Given the description of an element on the screen output the (x, y) to click on. 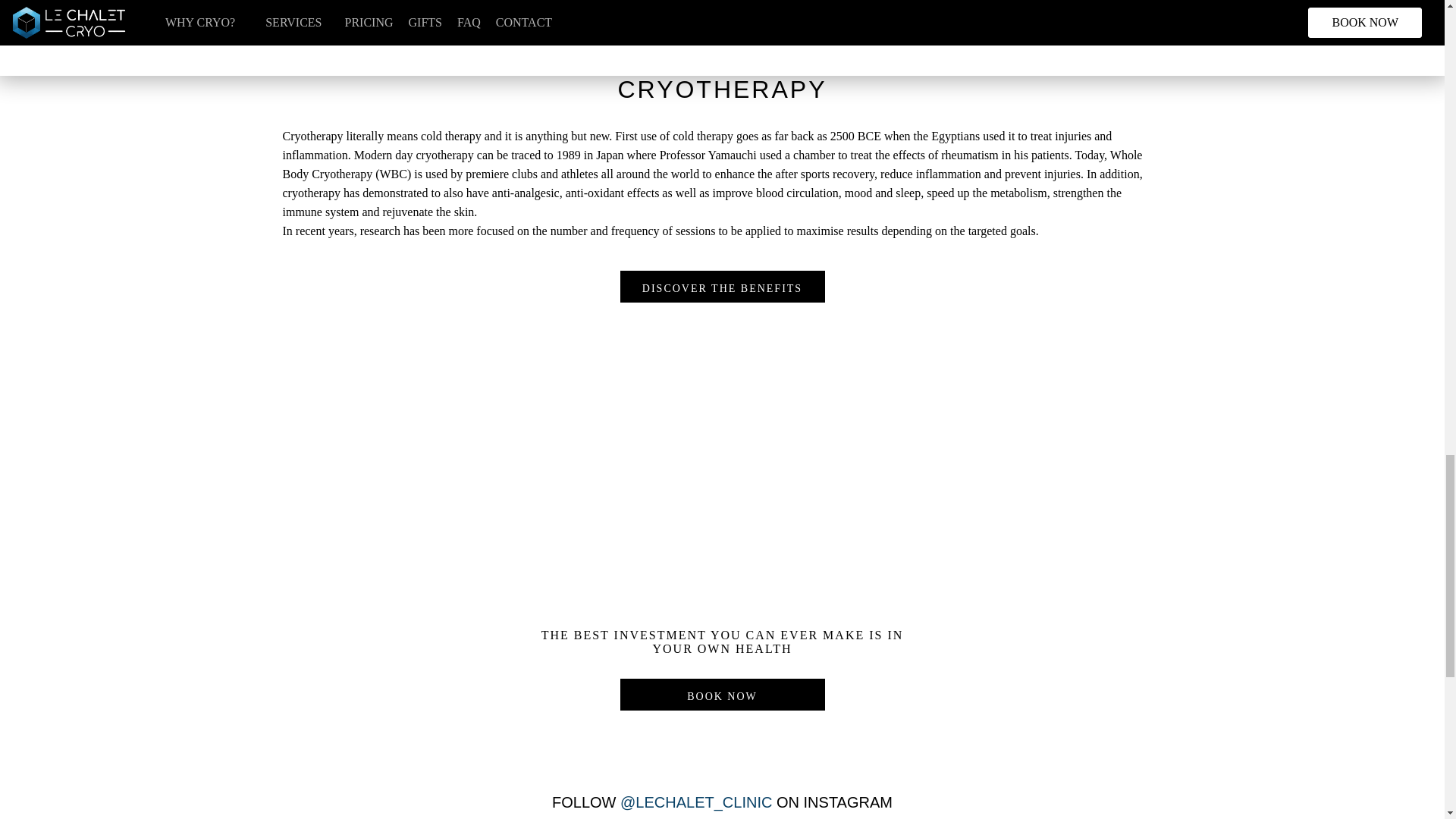
BOOK NOW (722, 694)
DISCOVER THE BENEFITS (722, 286)
